Given the description of an element on the screen output the (x, y) to click on. 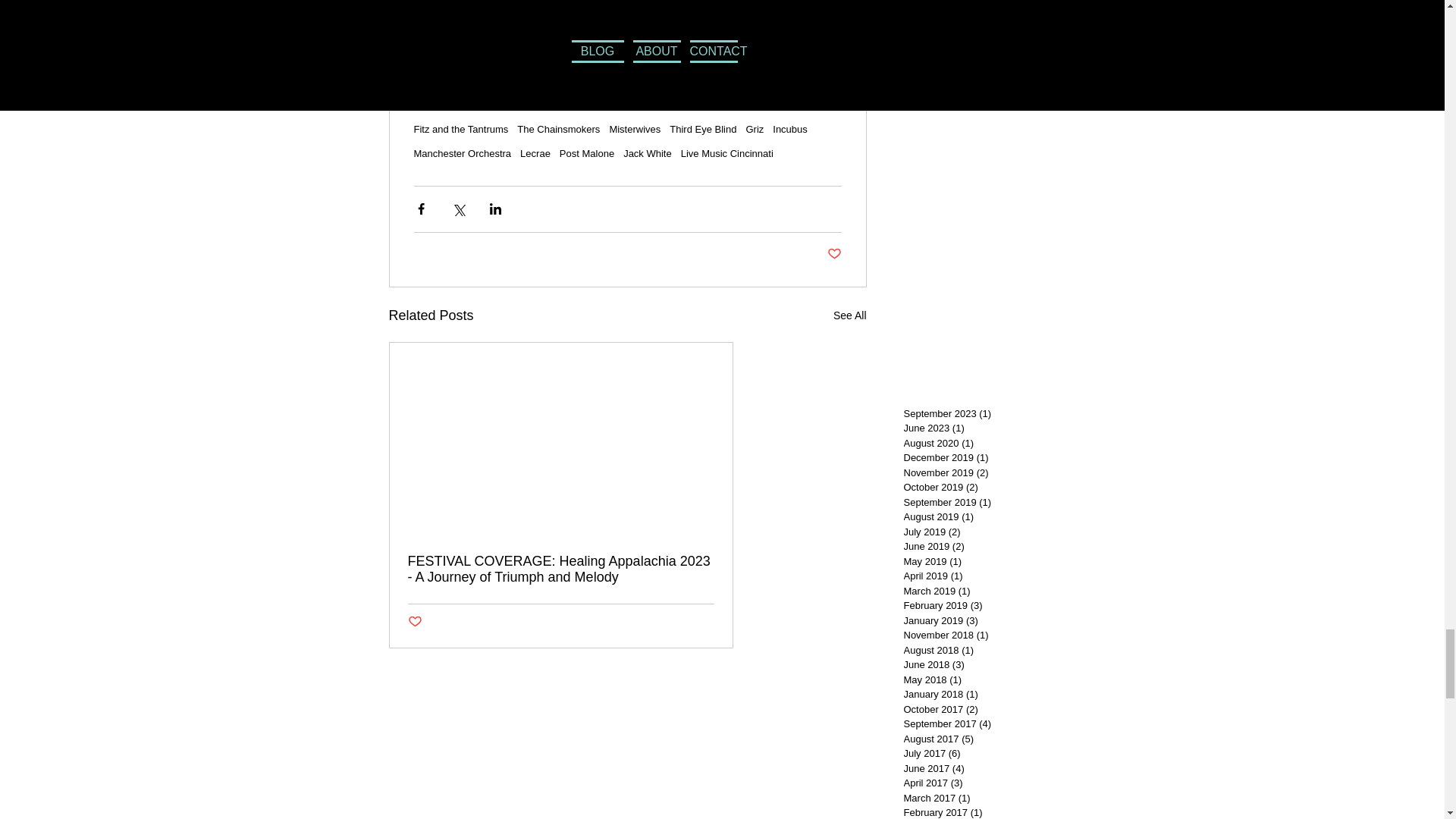
Post not marked as liked (834, 254)
Misterwives (634, 129)
Foster The People (719, 80)
Young The Giant (450, 80)
Bunbury 2018 (637, 104)
Bunbury Music Festival (464, 104)
Bunbury Festival (561, 104)
Summer Music Festival (618, 80)
Fitz and the Tantrums (460, 129)
